Given the description of an element on the screen output the (x, y) to click on. 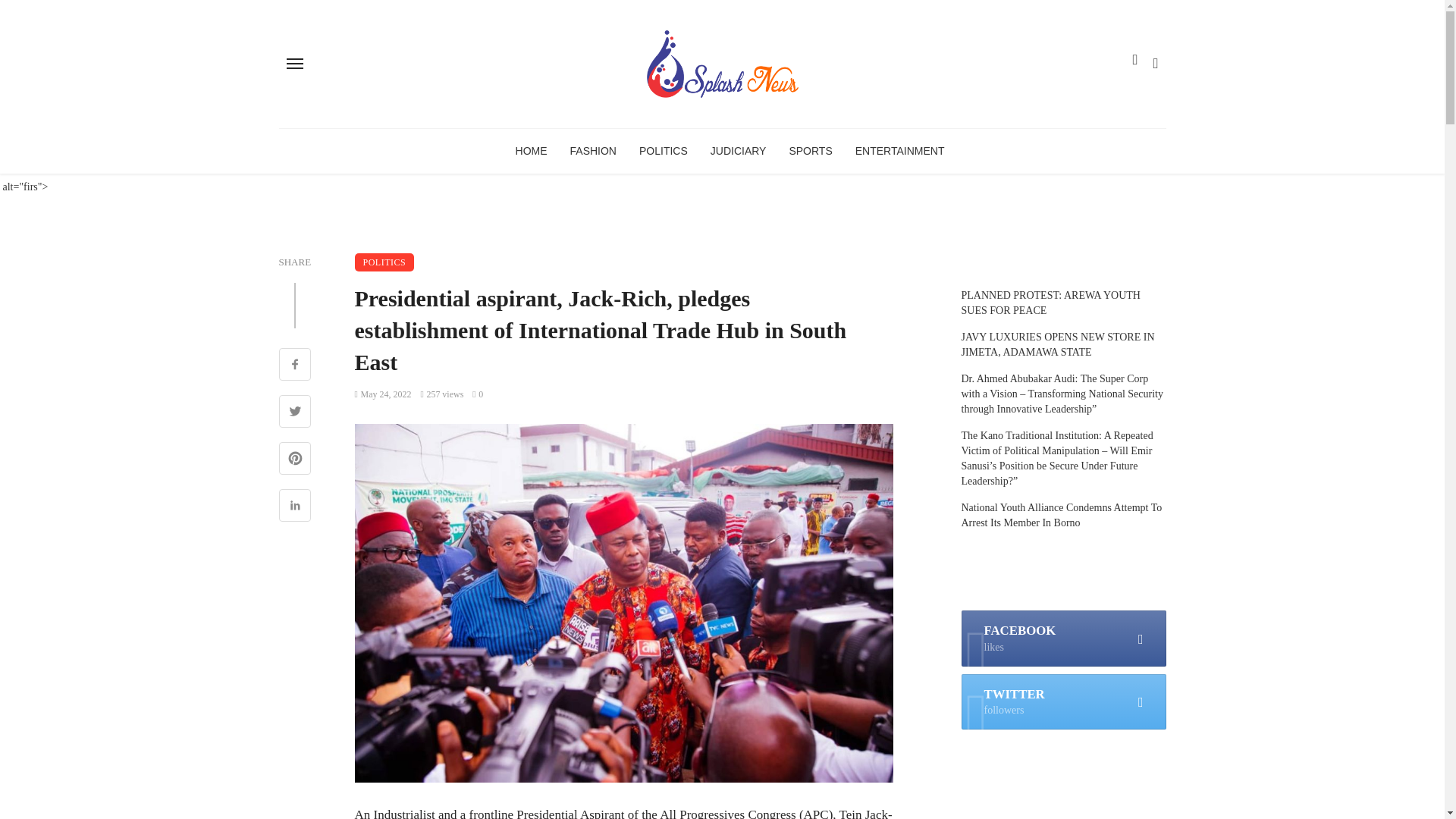
HOME (531, 150)
Share on Linkedin (295, 506)
Share on Pinterest (295, 460)
FASHION (593, 150)
SPORTS (810, 150)
POLITICS (384, 262)
POLITICS (662, 150)
0 Comments (477, 394)
May 24, 2022 at 3:43 pm (383, 394)
Share on Facebook (295, 366)
Share on Twitter (295, 412)
0 (477, 394)
JUDICIARY (737, 150)
ENTERTAINMENT (900, 150)
